Given the description of an element on the screen output the (x, y) to click on. 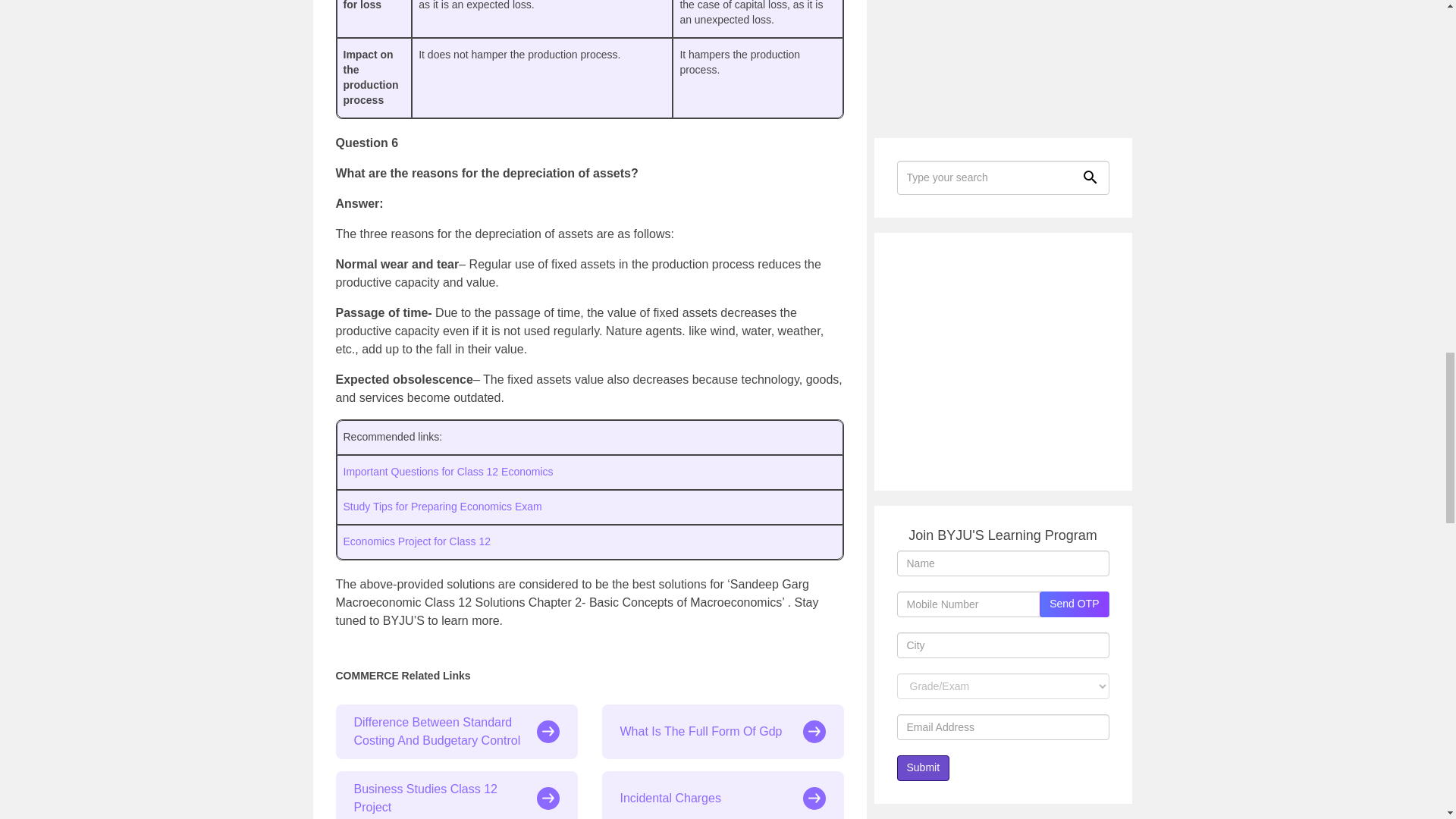
Difference Between Standard Costing And Budgetary Control (455, 731)
Incidental Charges (723, 795)
What Is The Full Form Of Gdp (723, 731)
Business Studies Class 12 Project (455, 795)
